Given the description of an element on the screen output the (x, y) to click on. 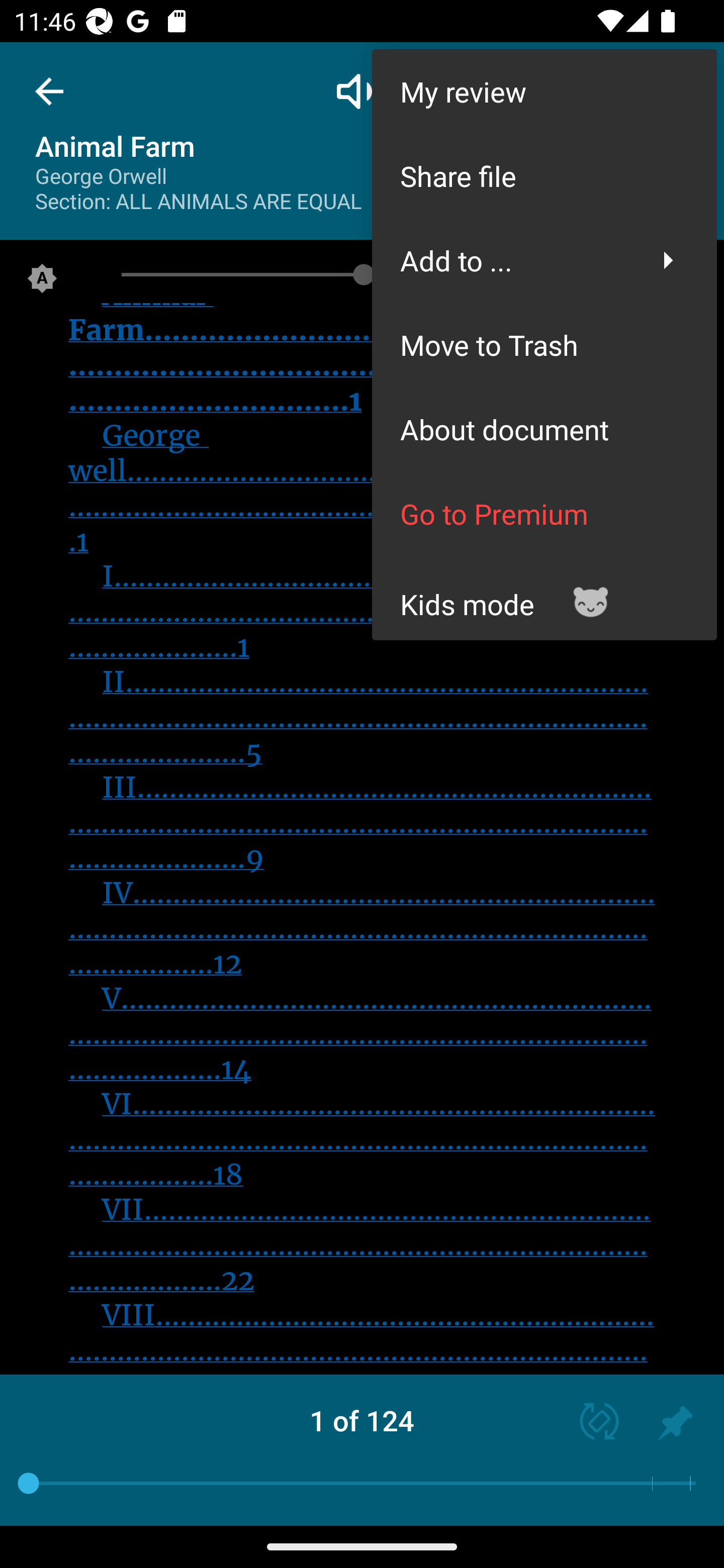
My review (544, 90)
Share file (544, 175)
Add to ... (544, 259)
Move to Trash (544, 344)
About document (544, 429)
Go to Premium (544, 513)
Kids mode     * (544, 597)
